Given the description of an element on the screen output the (x, y) to click on. 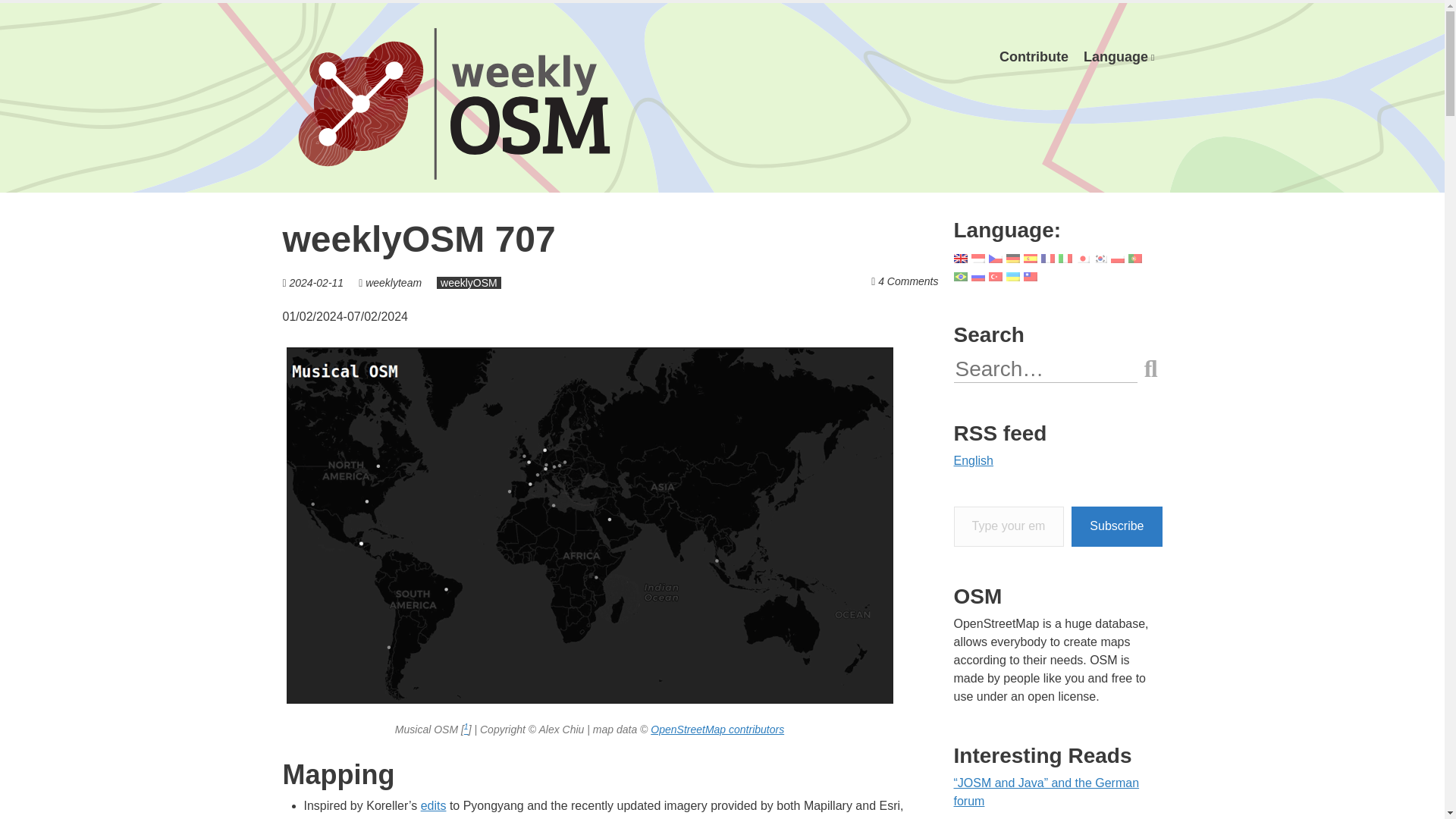
weeklyOSM (468, 282)
English (1118, 57)
embarked (465, 818)
weeklyteam (393, 282)
OpenStreetMap contributors (717, 729)
Contribute (1033, 57)
edits (433, 805)
2024-02-11 (316, 282)
Language (1118, 57)
4 Comments (907, 281)
